Given the description of an element on the screen output the (x, y) to click on. 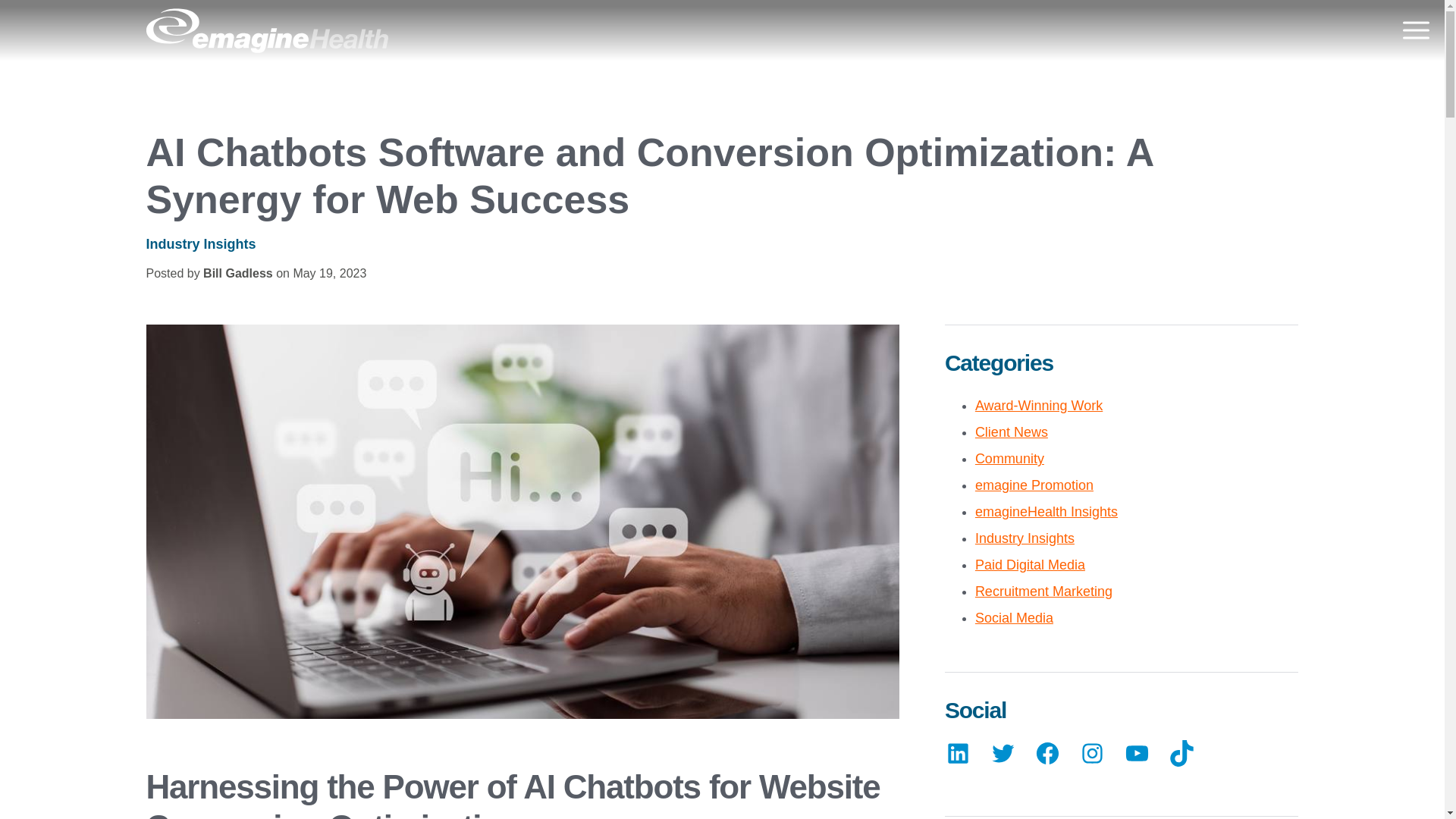
emagine Promotion (1034, 485)
Industry Insights (1024, 538)
Paid Digital Media (1029, 564)
Recruitment Marketing (1043, 590)
emagineHealth Insights (1046, 511)
Community (1009, 458)
Twitter (1003, 761)
Social Media (1013, 617)
Client News (1011, 432)
Award-Winning Work (1038, 405)
